Given the description of an element on the screen output the (x, y) to click on. 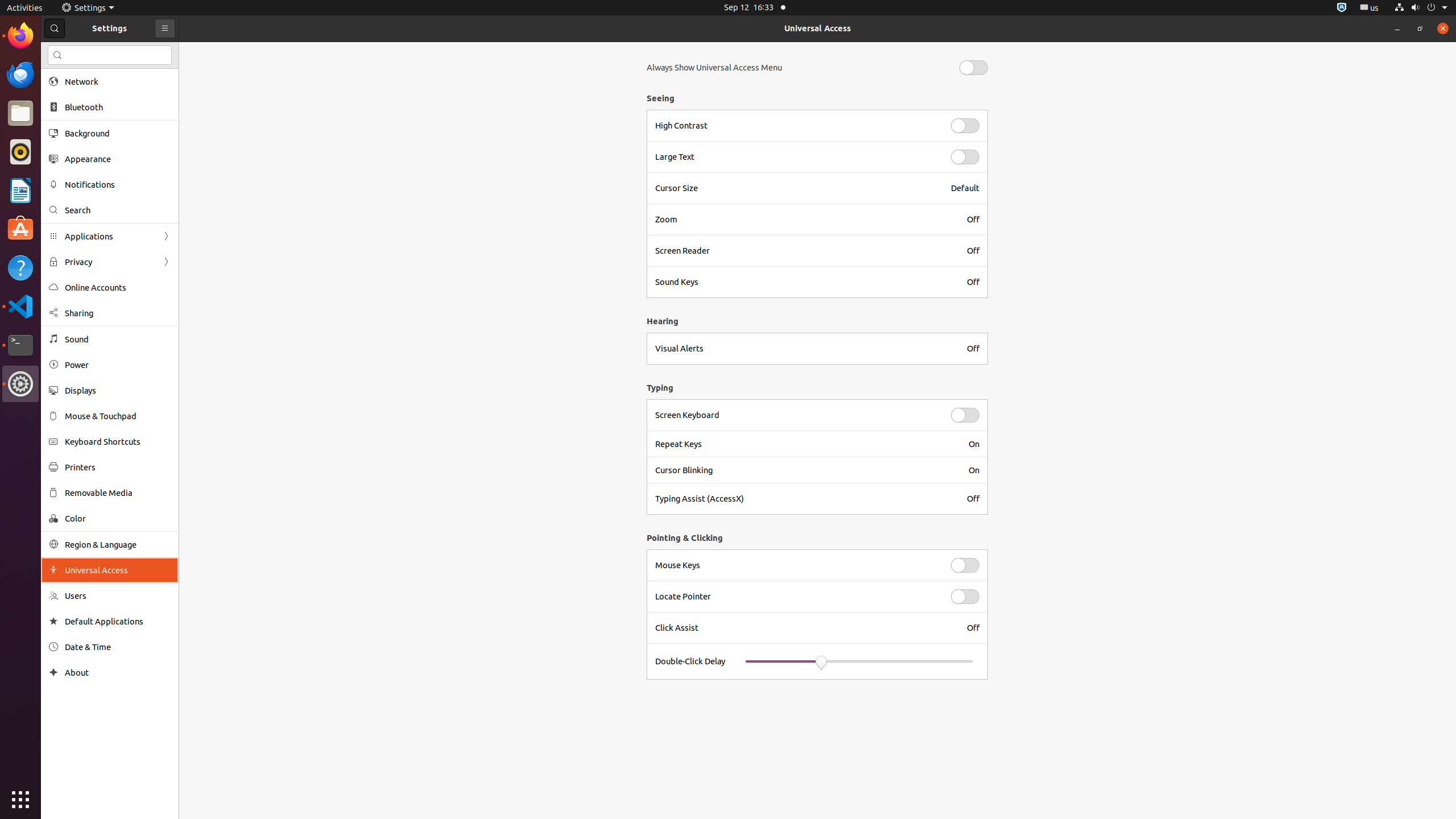
Notifications Element type: label (117, 184)
Search Element type: label (117, 209)
About Element type: label (117, 672)
Printers Element type: label (117, 467)
Default Applications Element type: label (117, 621)
